Given the description of an element on the screen output the (x, y) to click on. 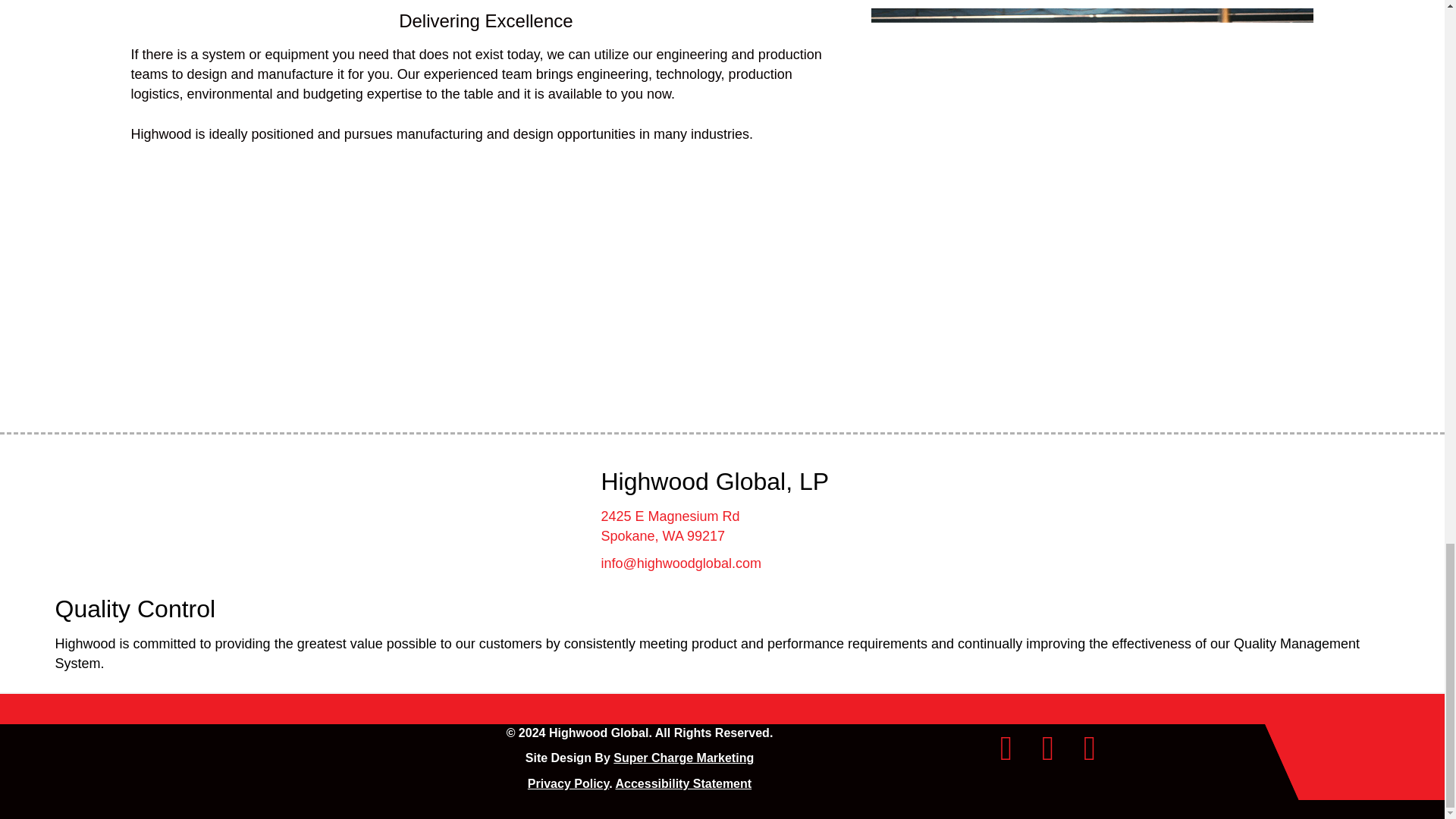
Super Charge Marketing (683, 757)
Spokane - Working (1091, 140)
Privacy Policy (567, 783)
2425 E Magnesium Rd (669, 516)
Spokane, WA 99217 (661, 535)
Accessibility Statement (682, 783)
